Given the description of an element on the screen output the (x, y) to click on. 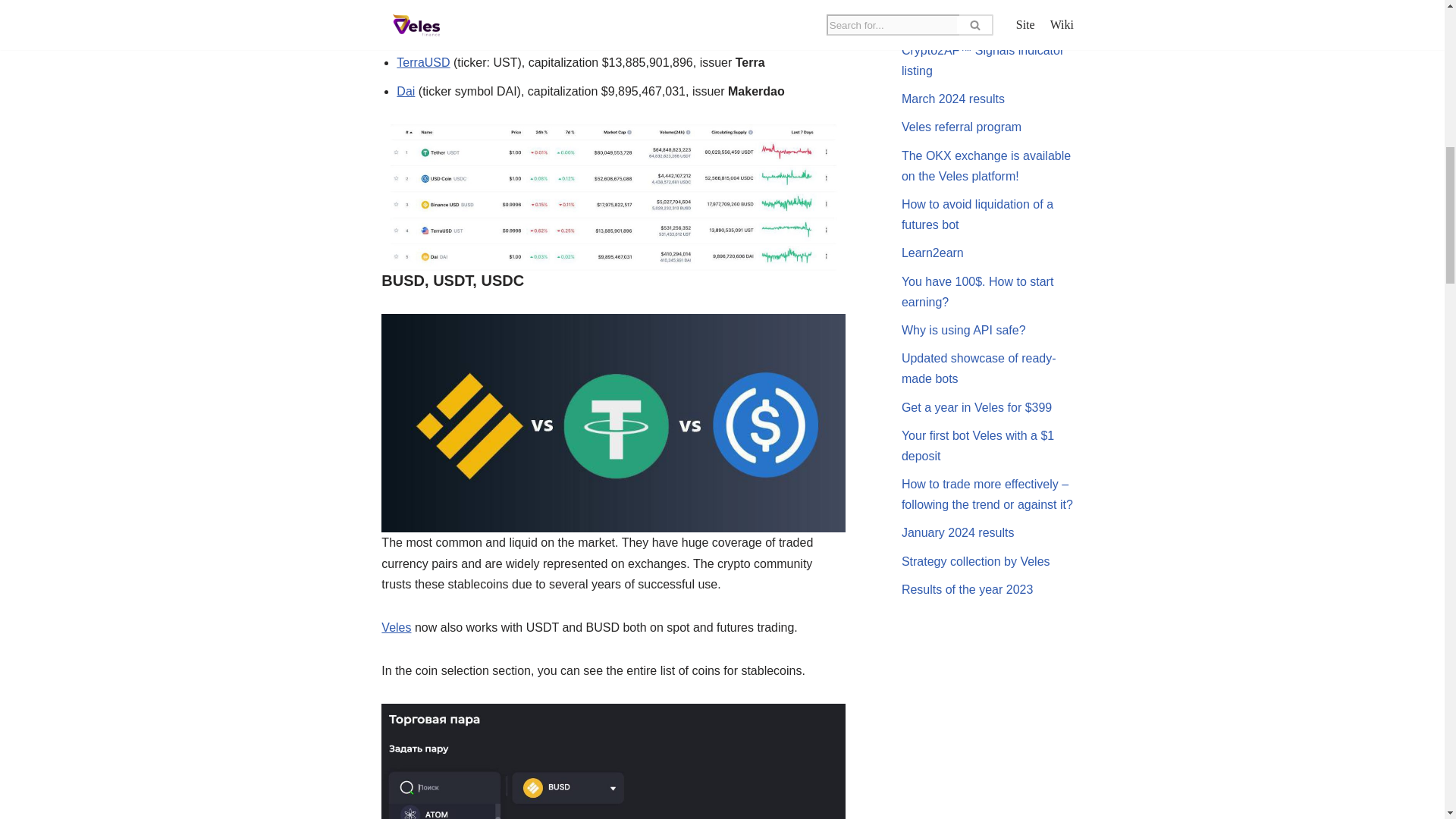
Veles (395, 626)
Dai (405, 91)
TerraUSD (422, 62)
Binance USD (432, 33)
